Given the description of an element on the screen output the (x, y) to click on. 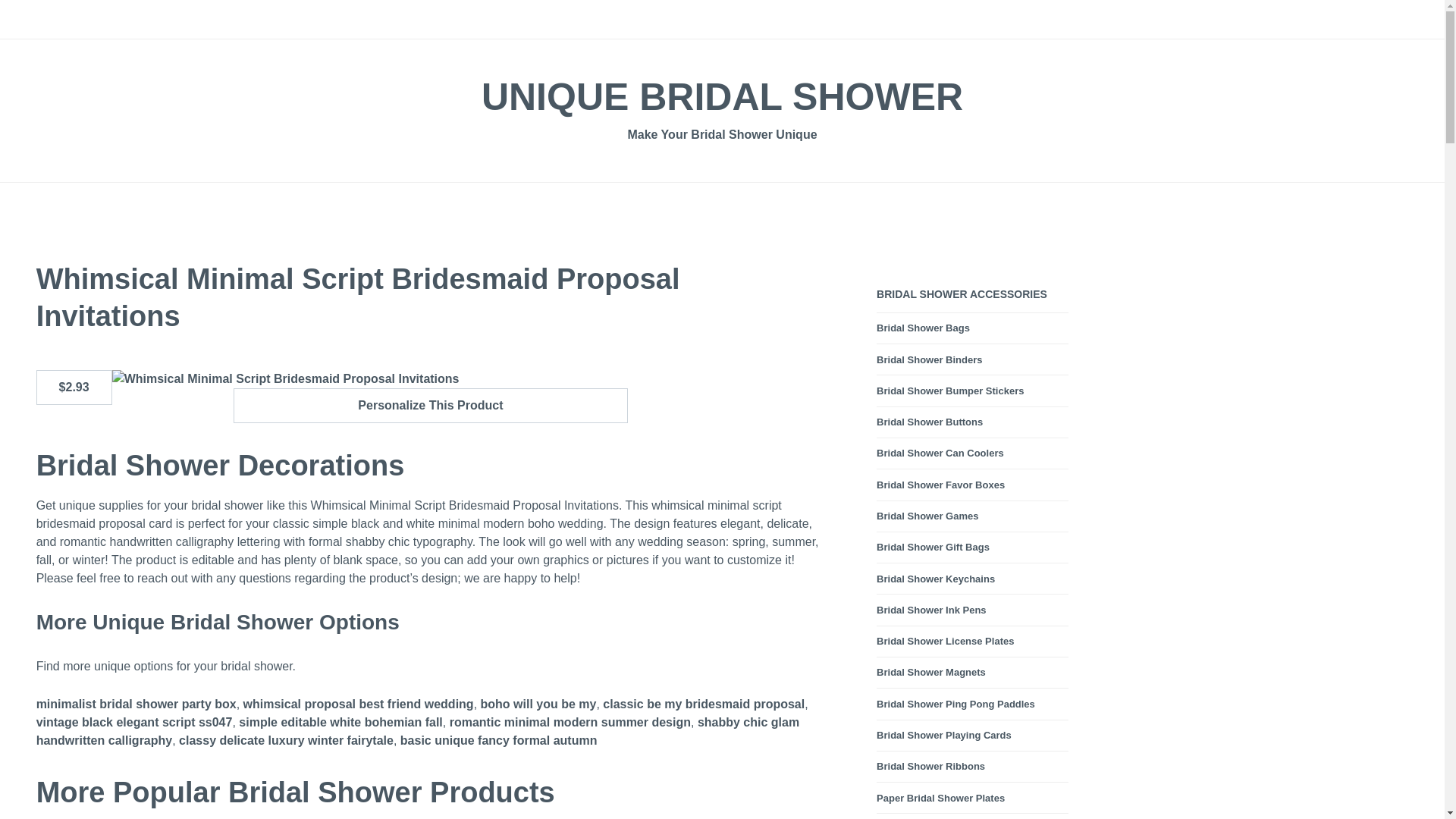
whimsical proposal best friend wedding (358, 704)
Bridal Shower Binders (928, 359)
shabby chic glam handwritten calligraphy (417, 731)
Bridal Shower Bags (922, 328)
boho will you be my (538, 704)
Bridal Shower Ink Pens (931, 610)
Bridal Shower Keychains (935, 579)
Bridal Shower Favor Boxes (940, 485)
vintage black elegant script ss047 (134, 722)
Bridal Shower Buttons (929, 422)
